Given the description of an element on the screen output the (x, y) to click on. 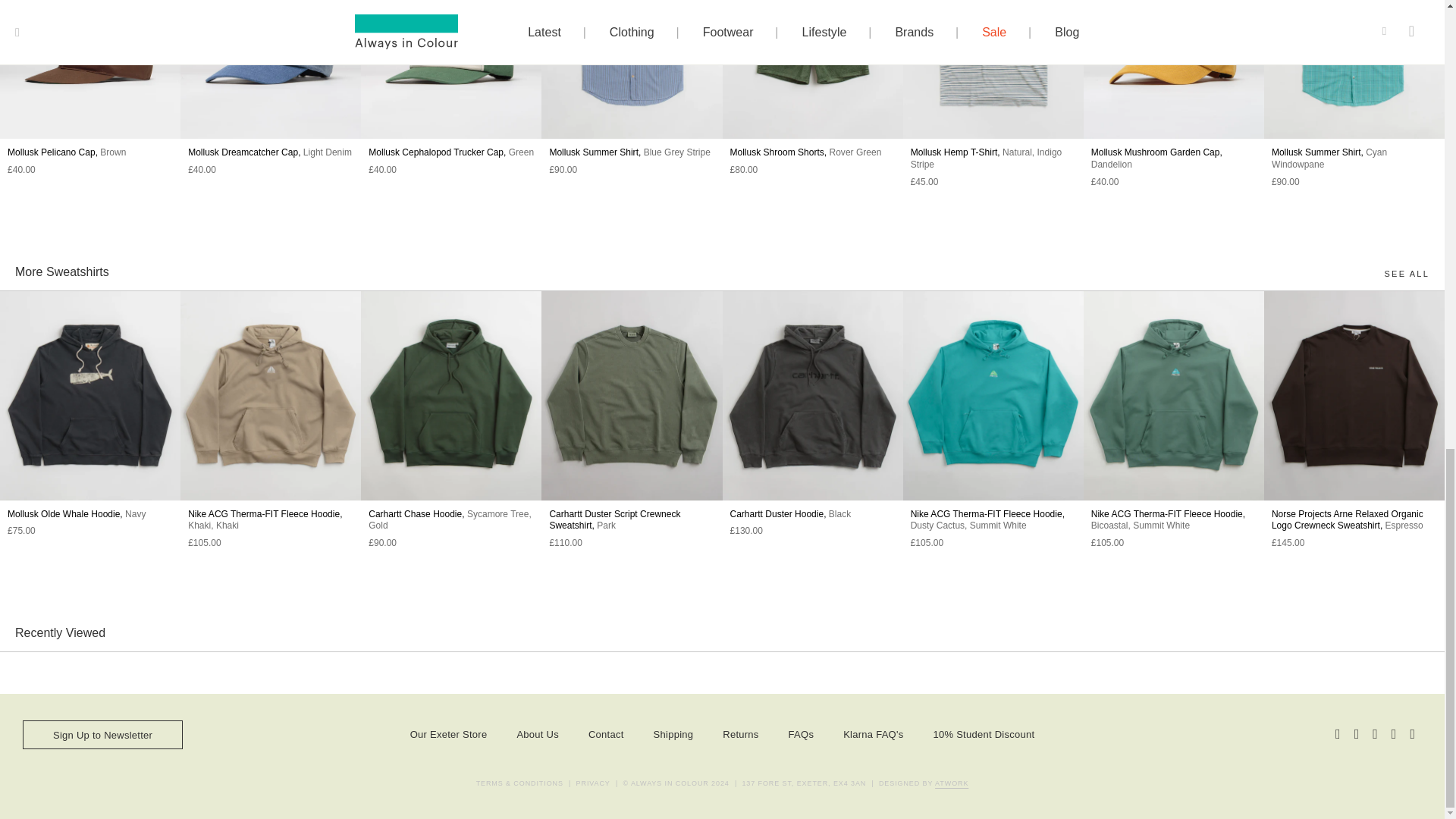
View the Always in Colour Privacy Policy (592, 784)
Always in Colour Exeter shop address (803, 784)
